Given the description of an element on the screen output the (x, y) to click on. 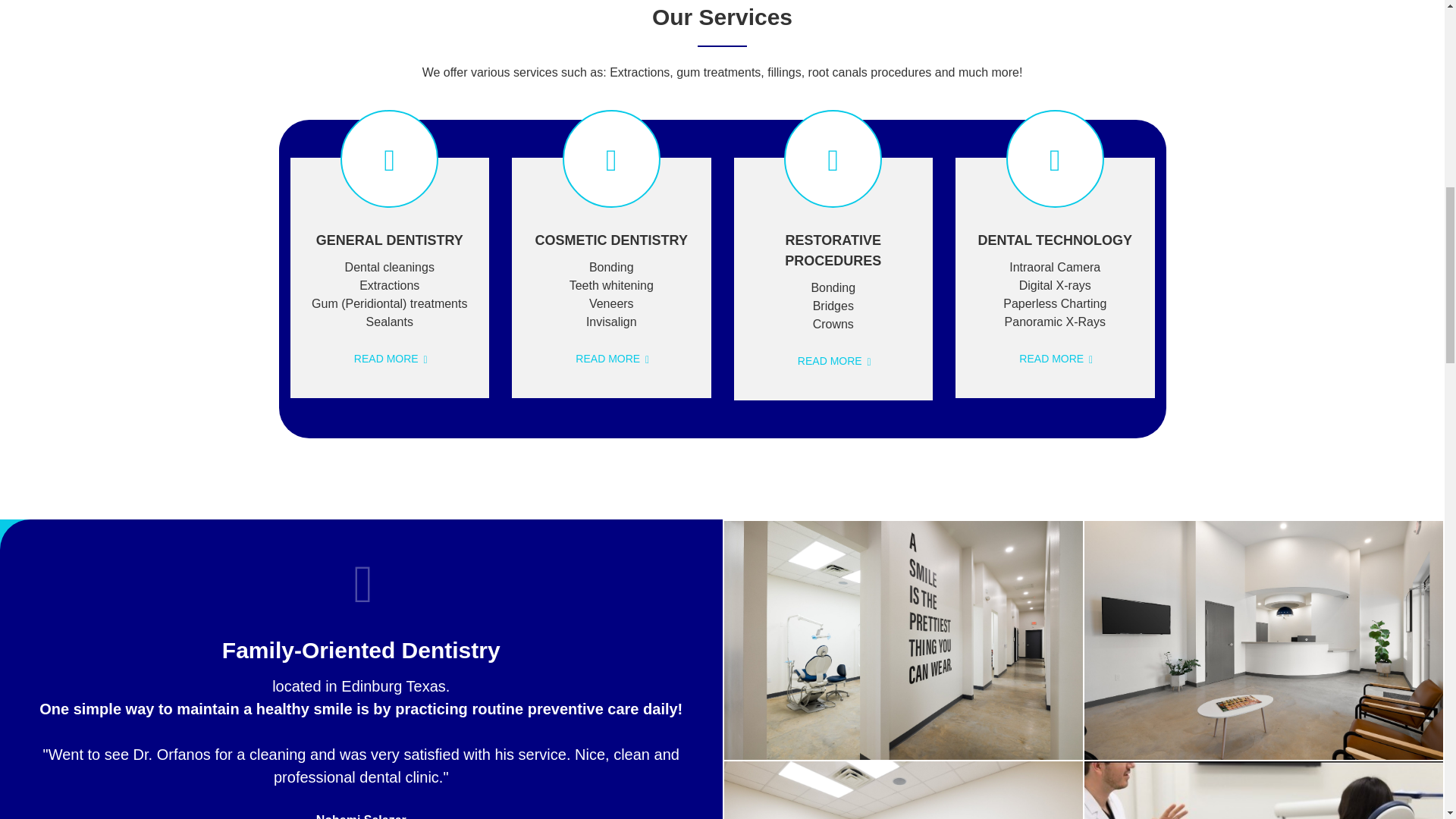
READ MORE (610, 358)
READ MORE (833, 360)
READ MORE (389, 358)
READ MORE (1054, 358)
